Given the description of an element on the screen output the (x, y) to click on. 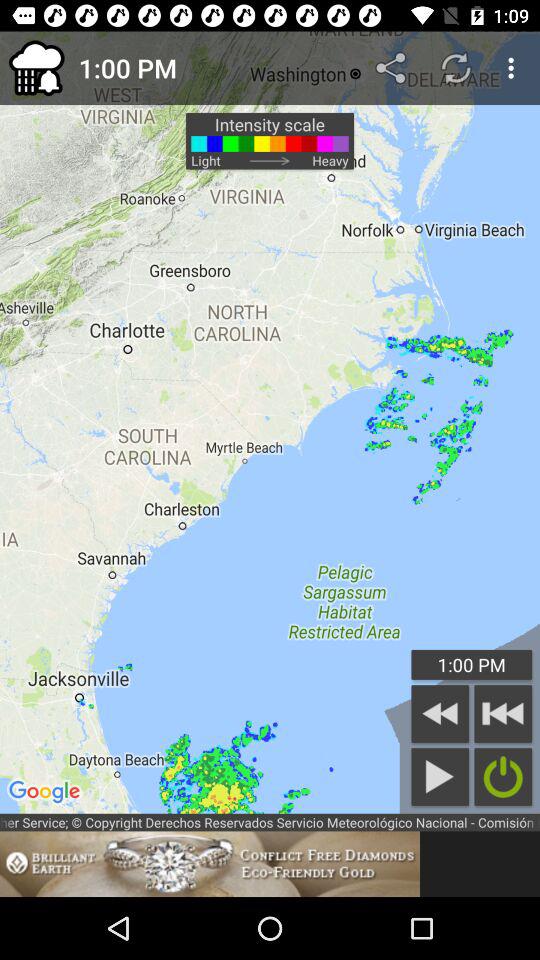
go to previous (503, 713)
